Given the description of an element on the screen output the (x, y) to click on. 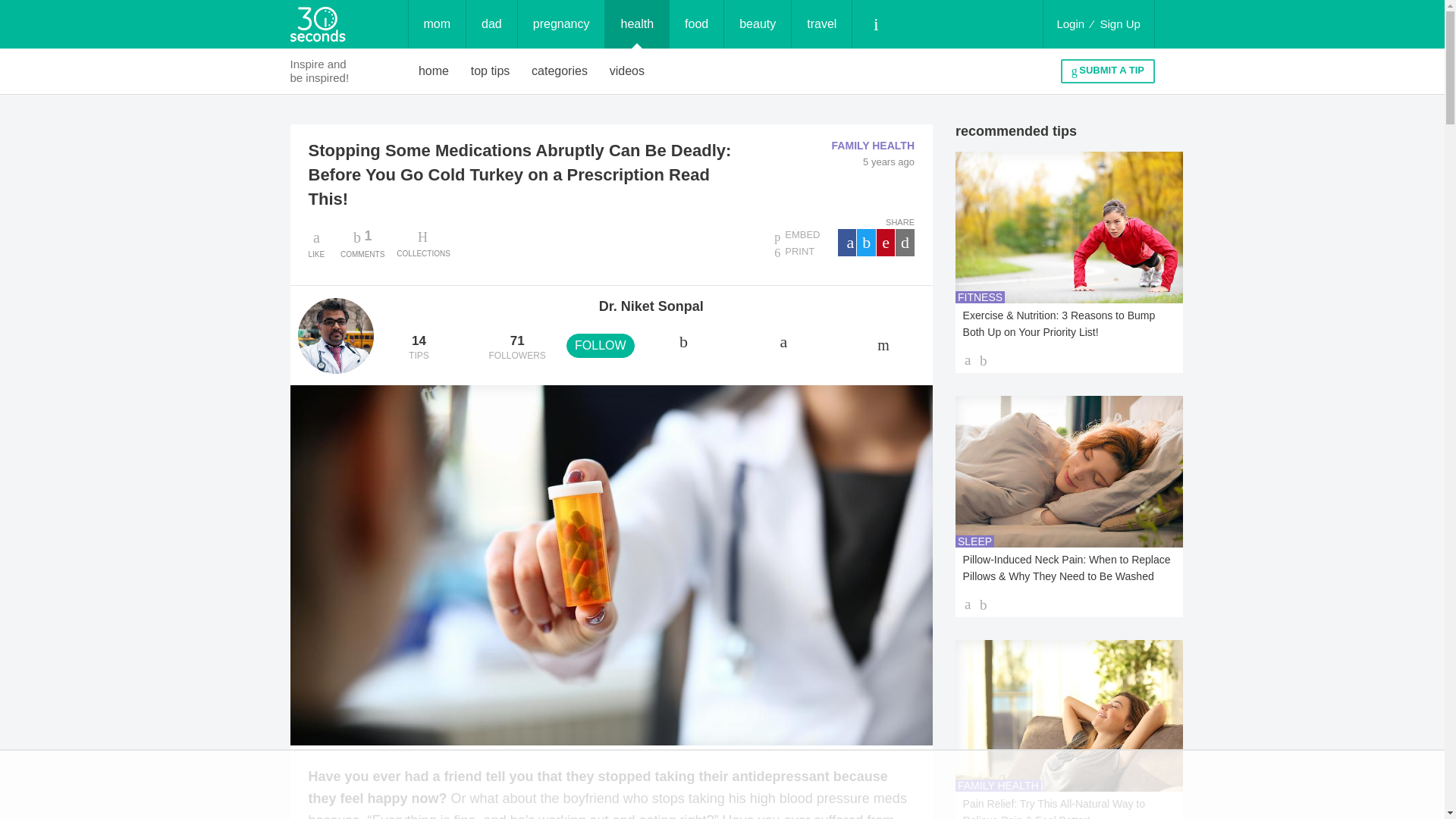
home (362, 243)
beauty (433, 71)
mom (756, 24)
categories (436, 24)
Sign Up (559, 71)
pregnancy (1120, 23)
food (561, 24)
Login (696, 24)
dad (1069, 23)
health (490, 24)
top tips (636, 24)
travel (489, 71)
